Given the description of an element on the screen output the (x, y) to click on. 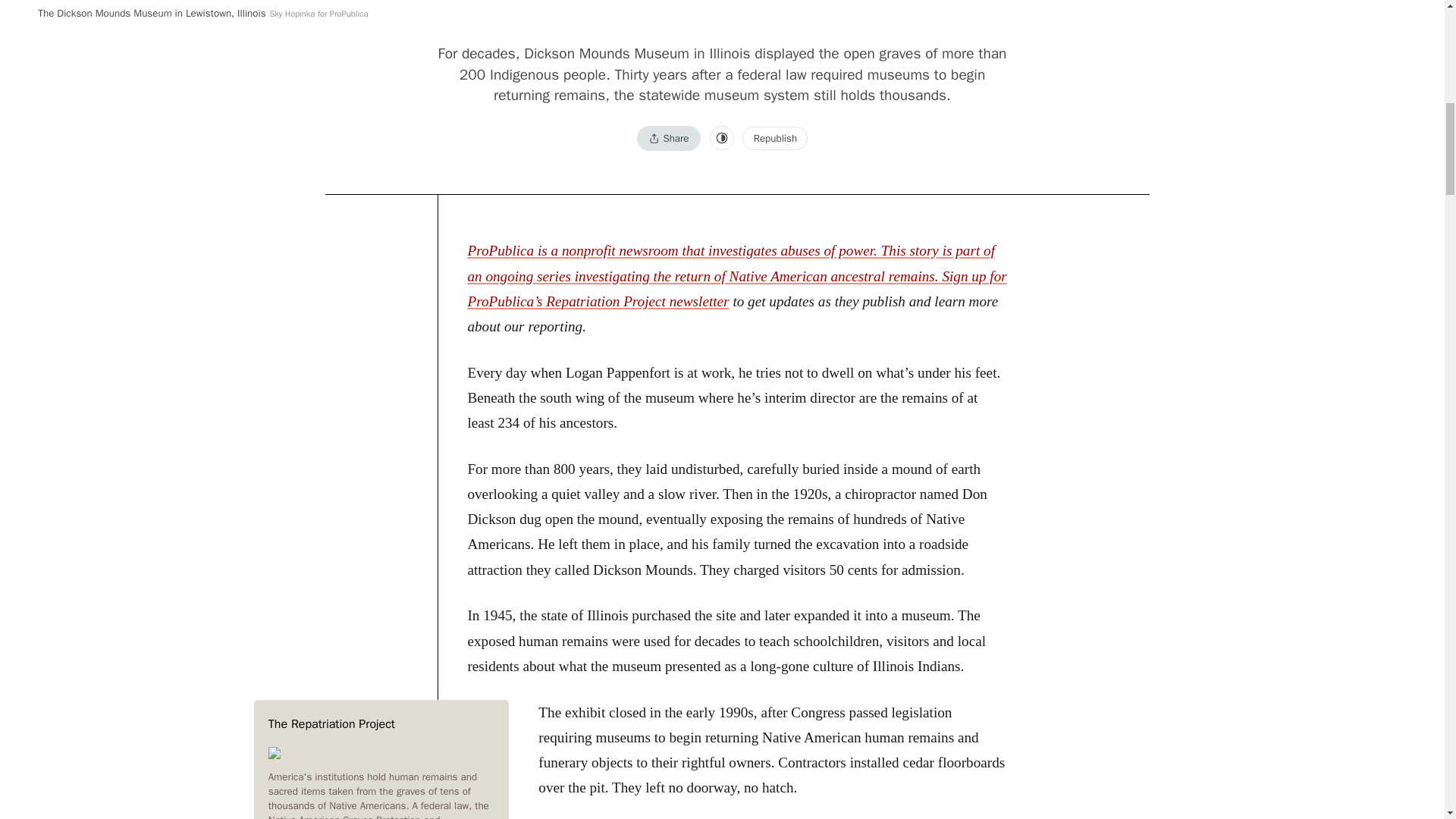
Change Appearance (722, 138)
Share (669, 138)
Republish (775, 137)
